Given the description of an element on the screen output the (x, y) to click on. 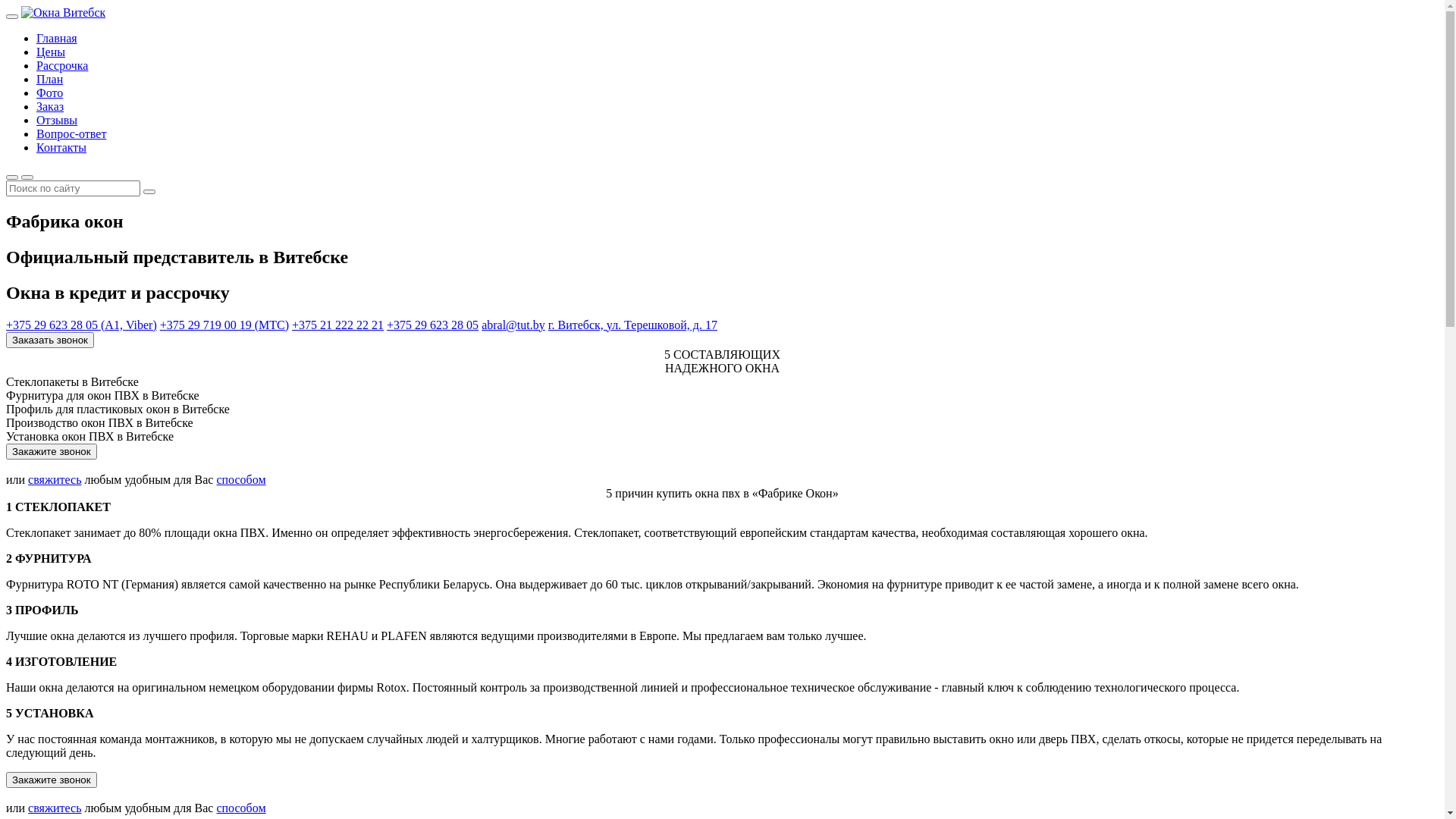
abral@tut.by Element type: text (513, 324)
+375 29 623 28 05 Element type: text (432, 324)
+375 21 222 22 21 Element type: text (337, 324)
